Given the description of an element on the screen output the (x, y) to click on. 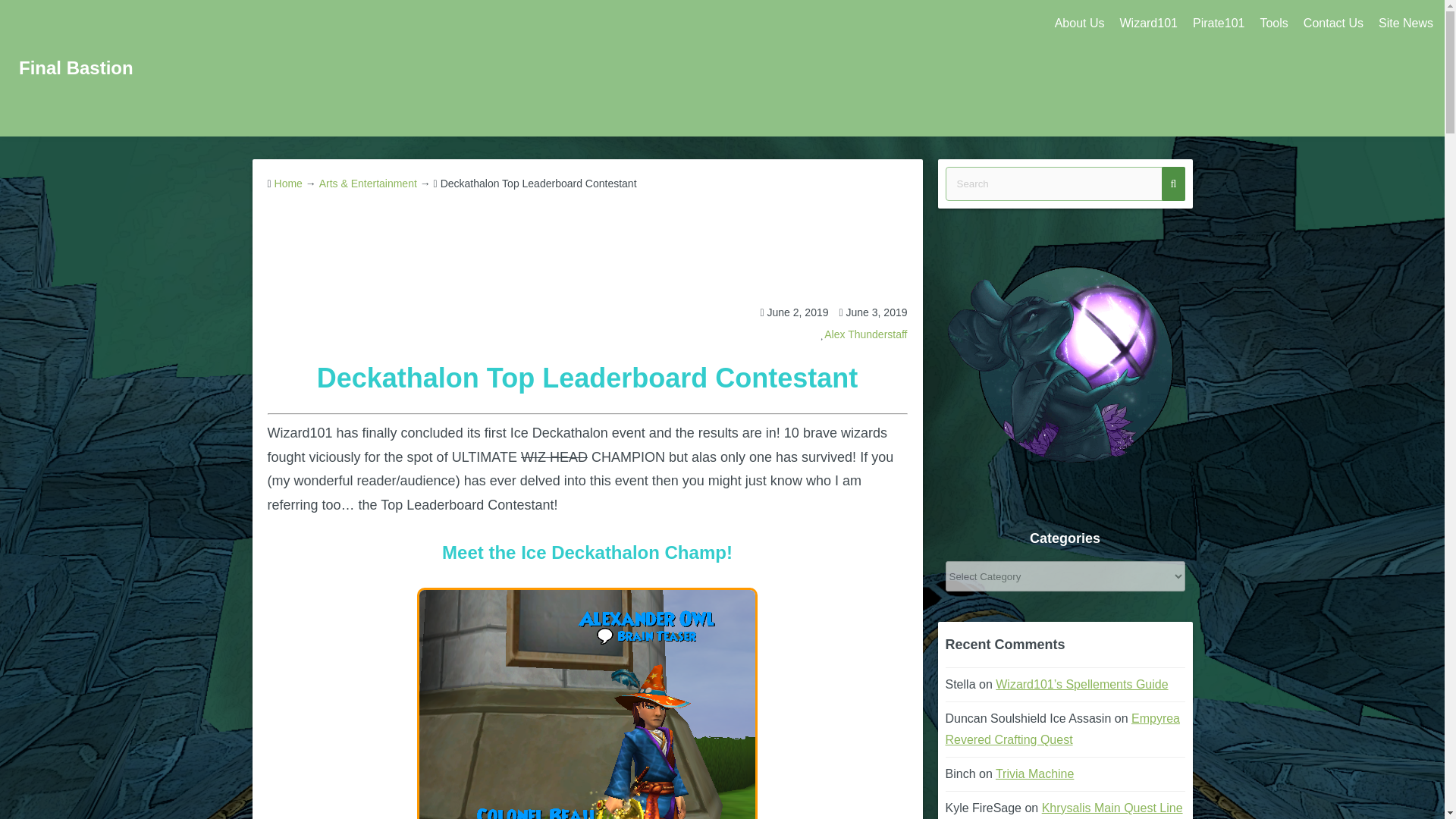
Contact Us (1333, 23)
Site News (1406, 23)
Final Bastion (75, 67)
Posts by Alex Thunderstaff (865, 333)
Pirate101 (1218, 23)
Home (288, 183)
About Us (1079, 23)
Tools (1273, 23)
Wizard101 (1148, 23)
